Given the description of an element on the screen output the (x, y) to click on. 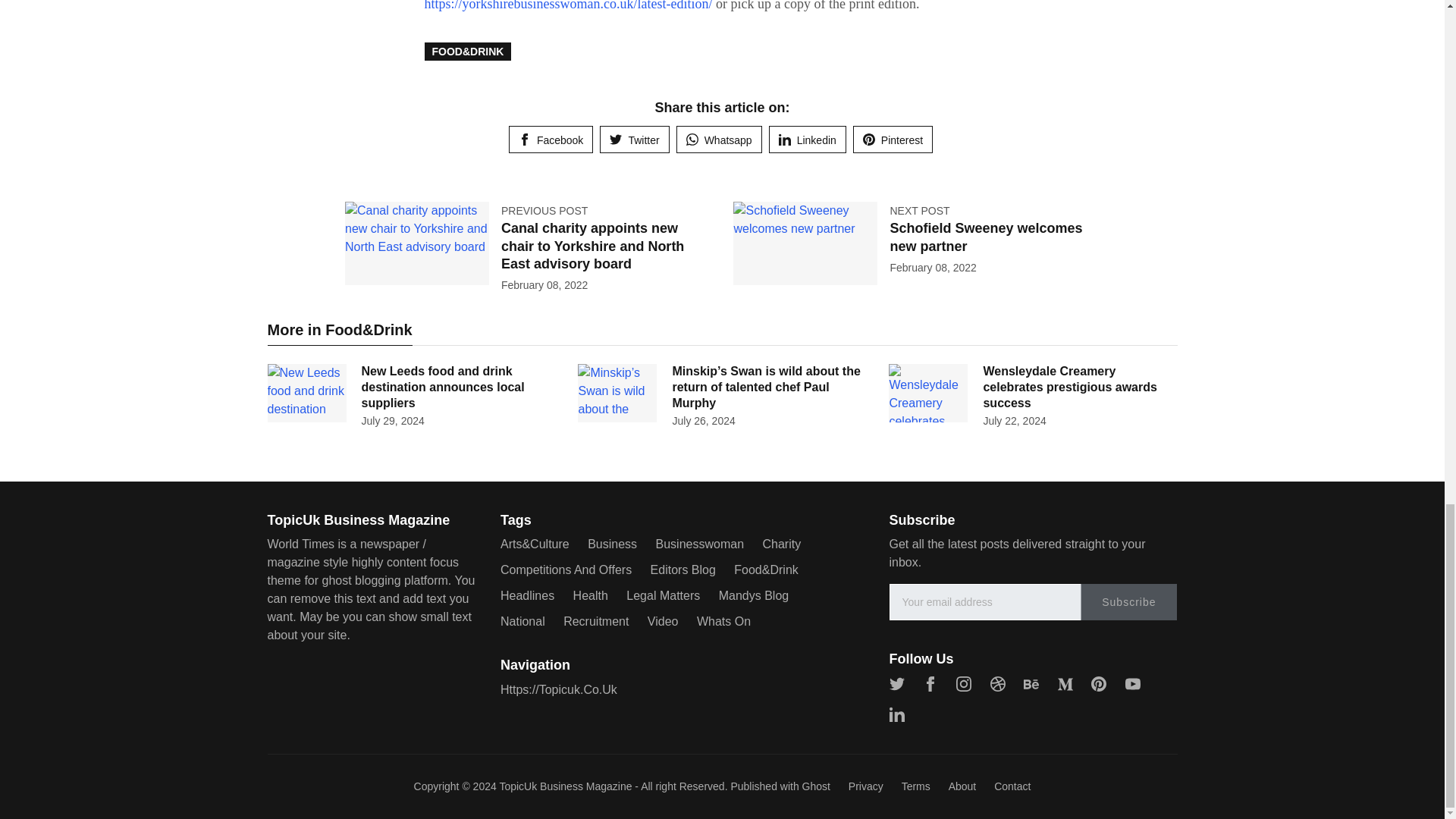
Facebook (550, 139)
Share on Whatsapp (719, 139)
NEXT POST (919, 210)
Schofield Sweeney welcomes new partner (985, 236)
26 July, 2024 (703, 420)
Share on Facebook (550, 139)
Share on Linkedin (806, 139)
PREVIOUS POST (544, 210)
Share on Twitter (633, 139)
Share on Pinterest (893, 139)
Whatsapp (719, 139)
29 July, 2024 (392, 420)
22 July, 2024 (1013, 420)
